Given the description of an element on the screen output the (x, y) to click on. 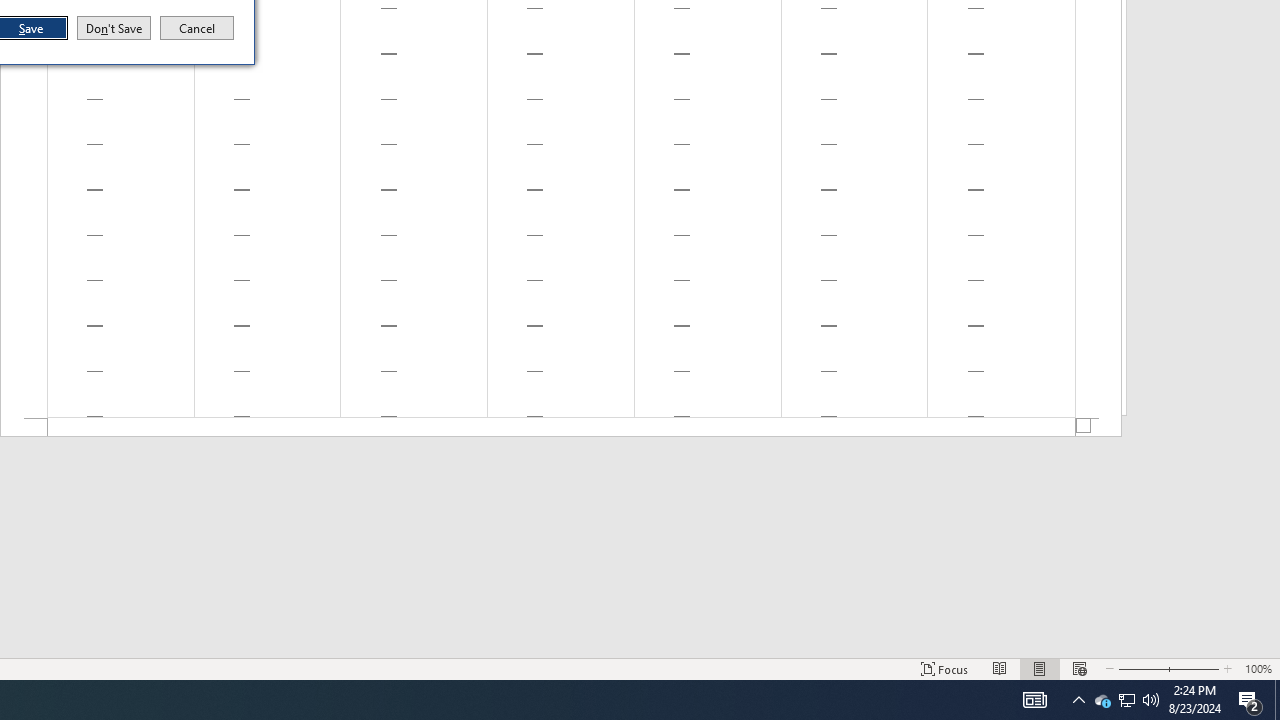
Cancel (1102, 699)
Don't Save (1126, 699)
Footer -Section 1- (197, 27)
User Promoted Notification Area (113, 27)
Q2790: 100% (561, 427)
AutomationID: 4105 (1126, 699)
